Given the description of an element on the screen output the (x, y) to click on. 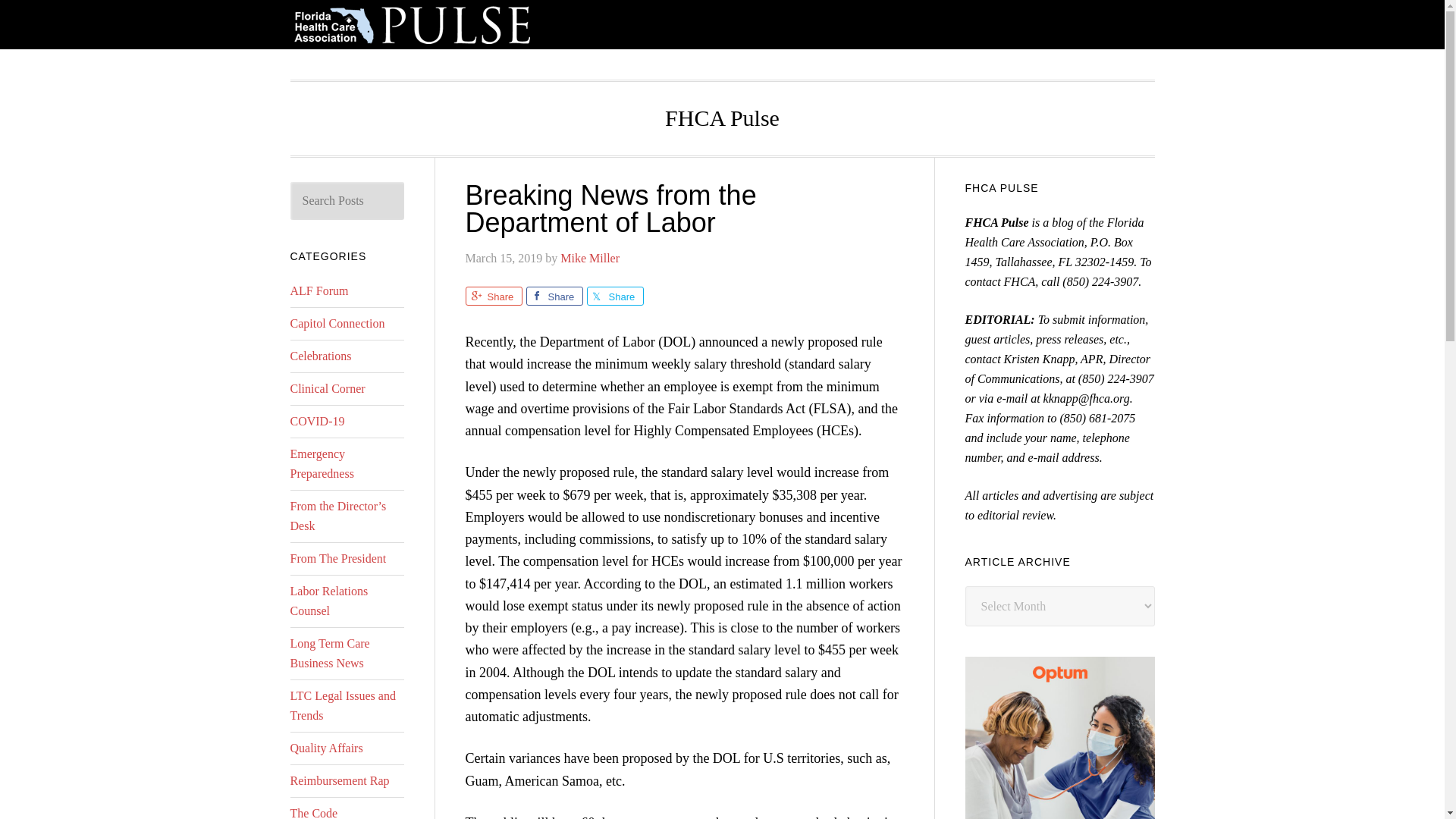
Share (614, 295)
Labor Relations Counsel (328, 600)
ALF Forum (318, 290)
Capitol Connection (336, 323)
Clinical Corner (327, 388)
Long Term Care Business News (329, 653)
COVID-19 (316, 420)
Emergency Preparedness (321, 463)
Celebrations (319, 355)
